Given the description of an element on the screen output the (x, y) to click on. 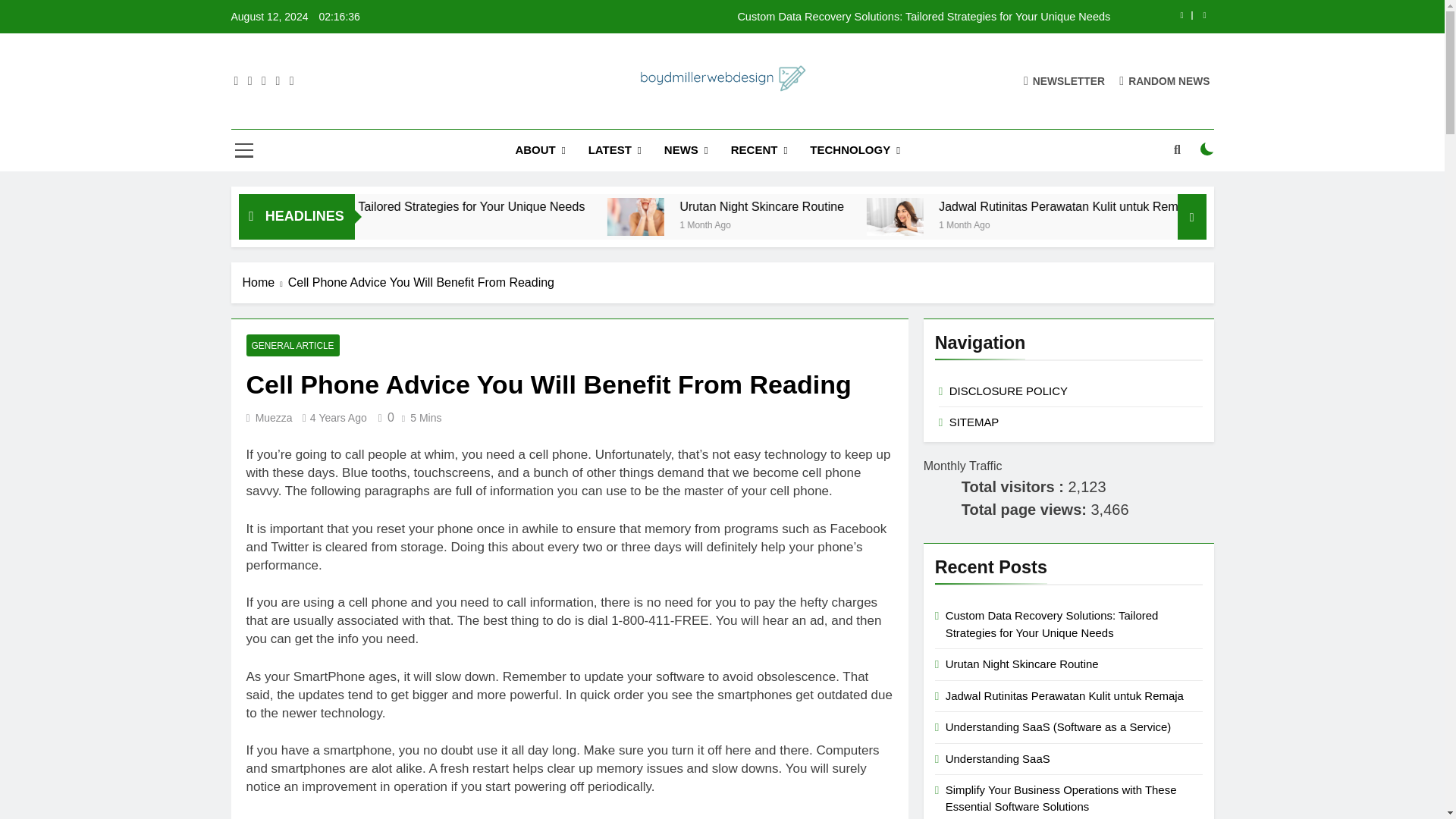
RANDOM NEWS (1164, 80)
Urutan Night Skincare Routine (769, 216)
on (1206, 149)
ABOUT (539, 150)
Urutan Night Skincare Routine (766, 216)
Urutan Night Skincare Routine (890, 206)
LATEST (614, 150)
NEWSLETTER (1064, 80)
